Given the description of an element on the screen output the (x, y) to click on. 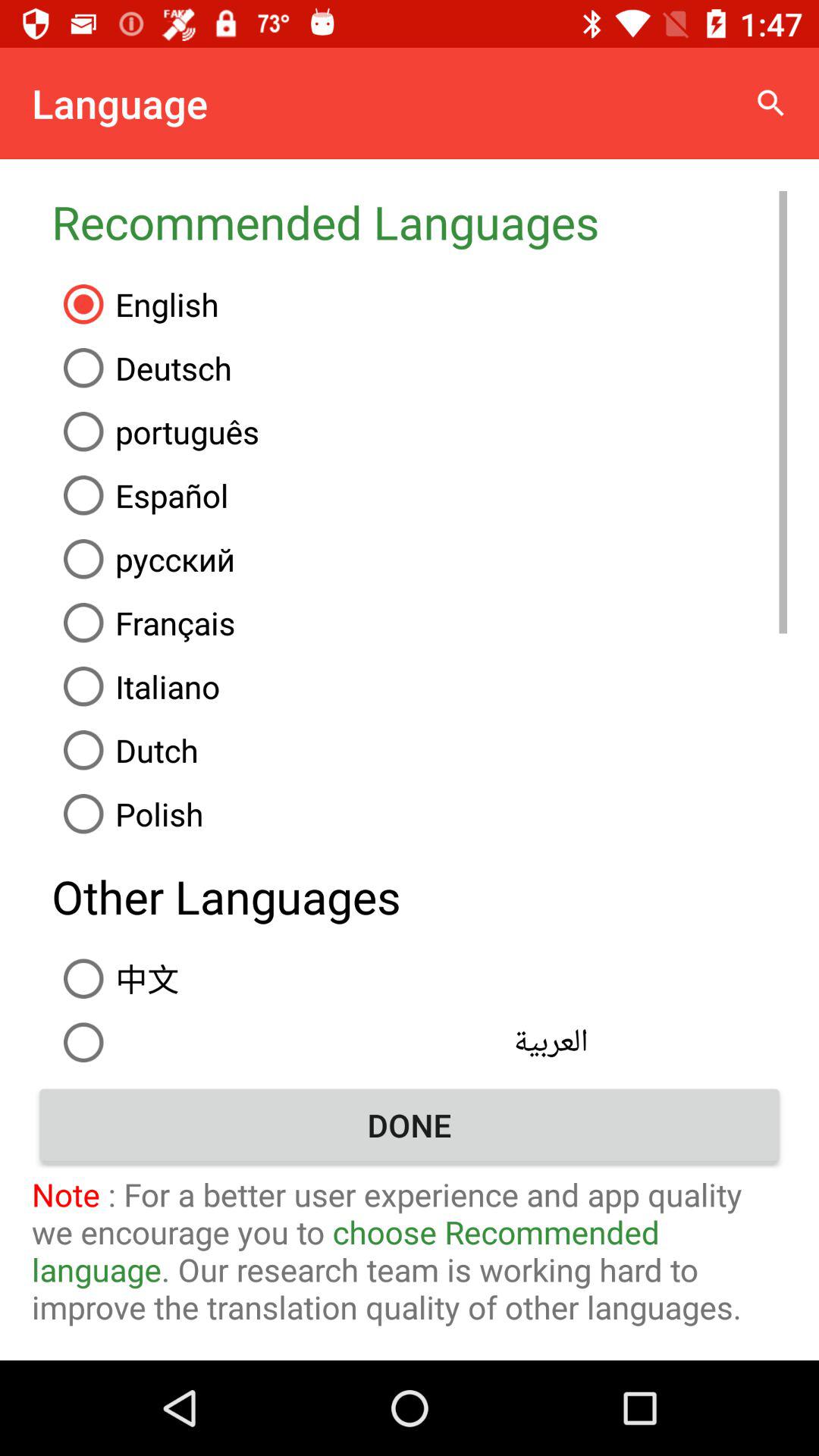
tap the deutsch icon (419, 367)
